Given the description of an element on the screen output the (x, y) to click on. 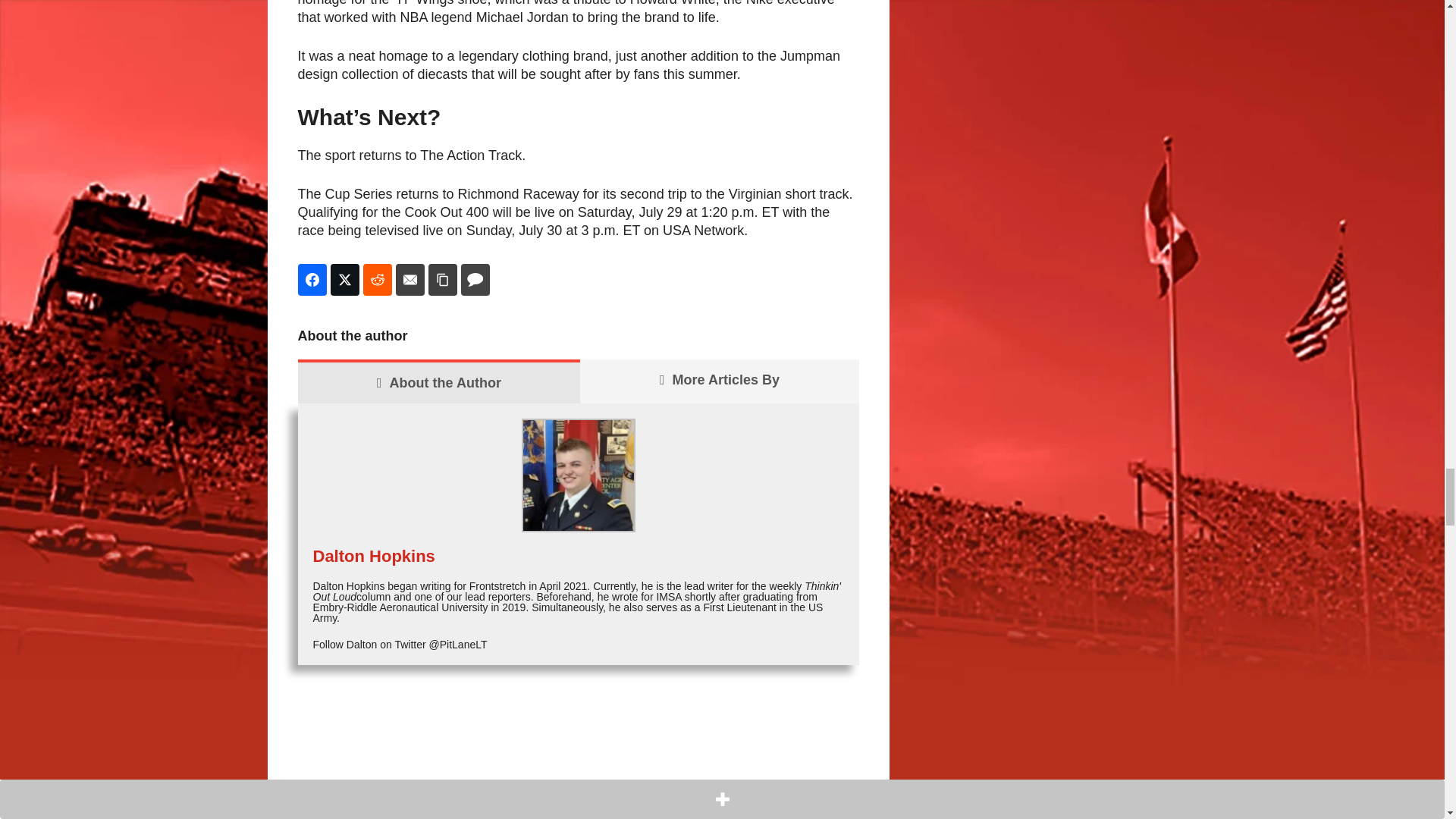
Share on Email (410, 279)
Share on Reddit (376, 279)
Share on Copy Link (442, 279)
Share on Twitter (344, 279)
Share on Facebook (311, 279)
